Given the description of an element on the screen output the (x, y) to click on. 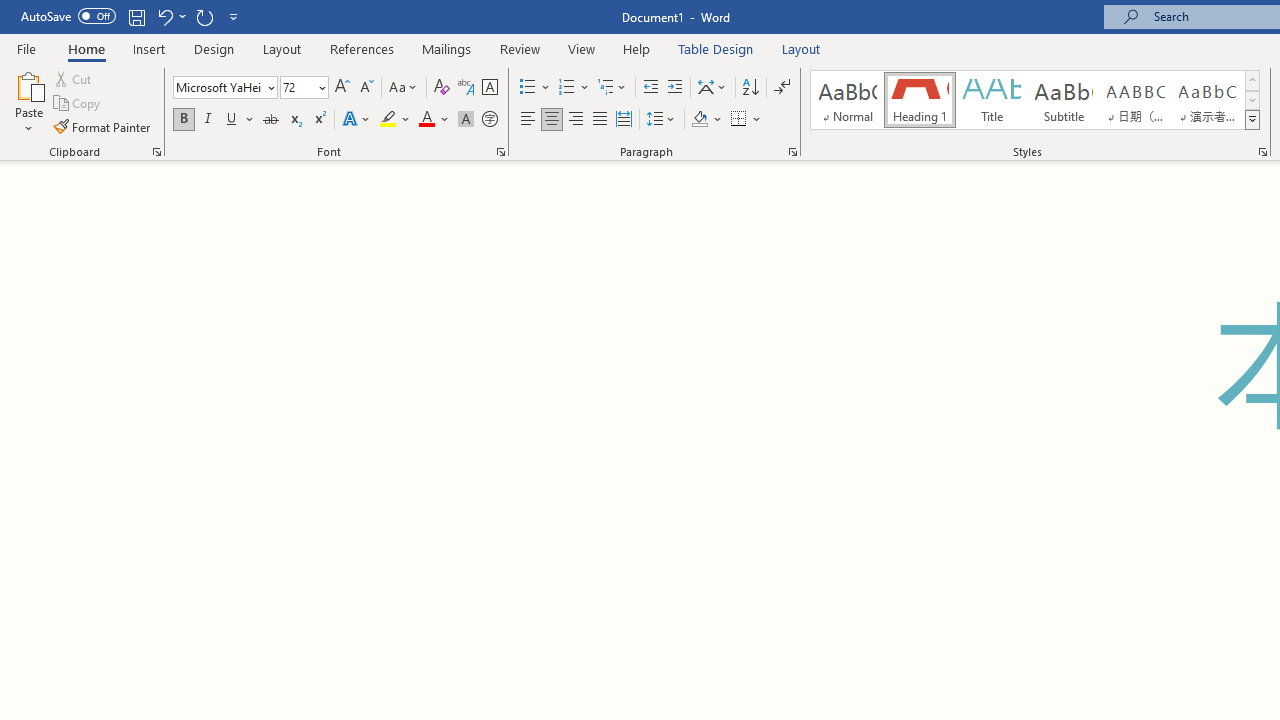
Font Color Red (426, 119)
